Given the description of an element on the screen output the (x, y) to click on. 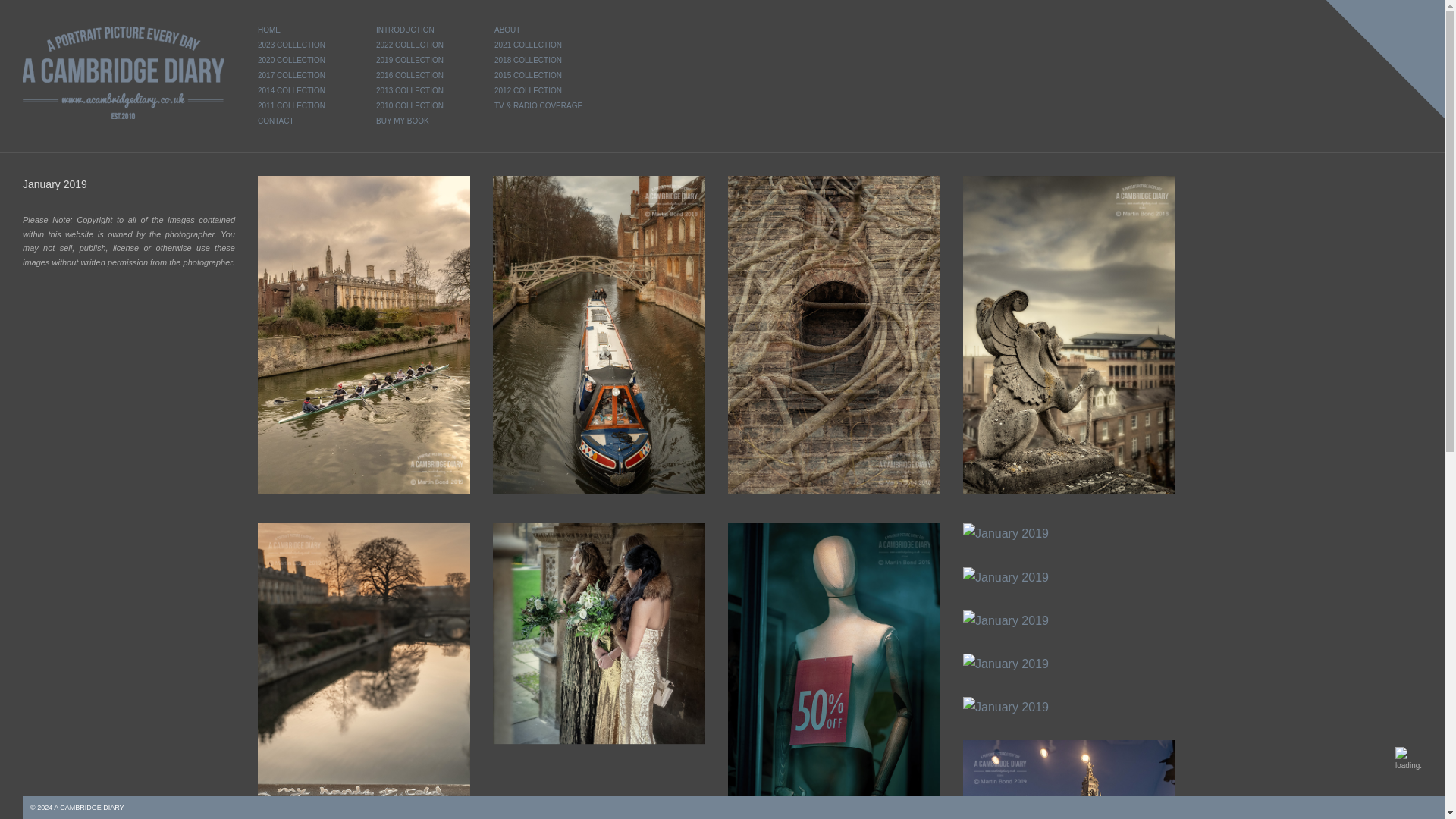
2023 COLLECTION (305, 45)
2022 COLLECTION (423, 45)
Facebook Profile (1430, 807)
2011 COLLECTION (305, 105)
2013 COLLECTION (423, 90)
2020 COLLECTION (305, 60)
BUY MY BOOK (423, 120)
CONTACT (305, 120)
2014 COLLECTION (305, 90)
2019 COLLECTION (423, 60)
INTRODUCTION (423, 29)
ABOUT (542, 29)
2017 COLLECTION (305, 75)
2010 COLLECTION (423, 105)
Follow on Twitter (1408, 807)
